Given the description of an element on the screen output the (x, y) to click on. 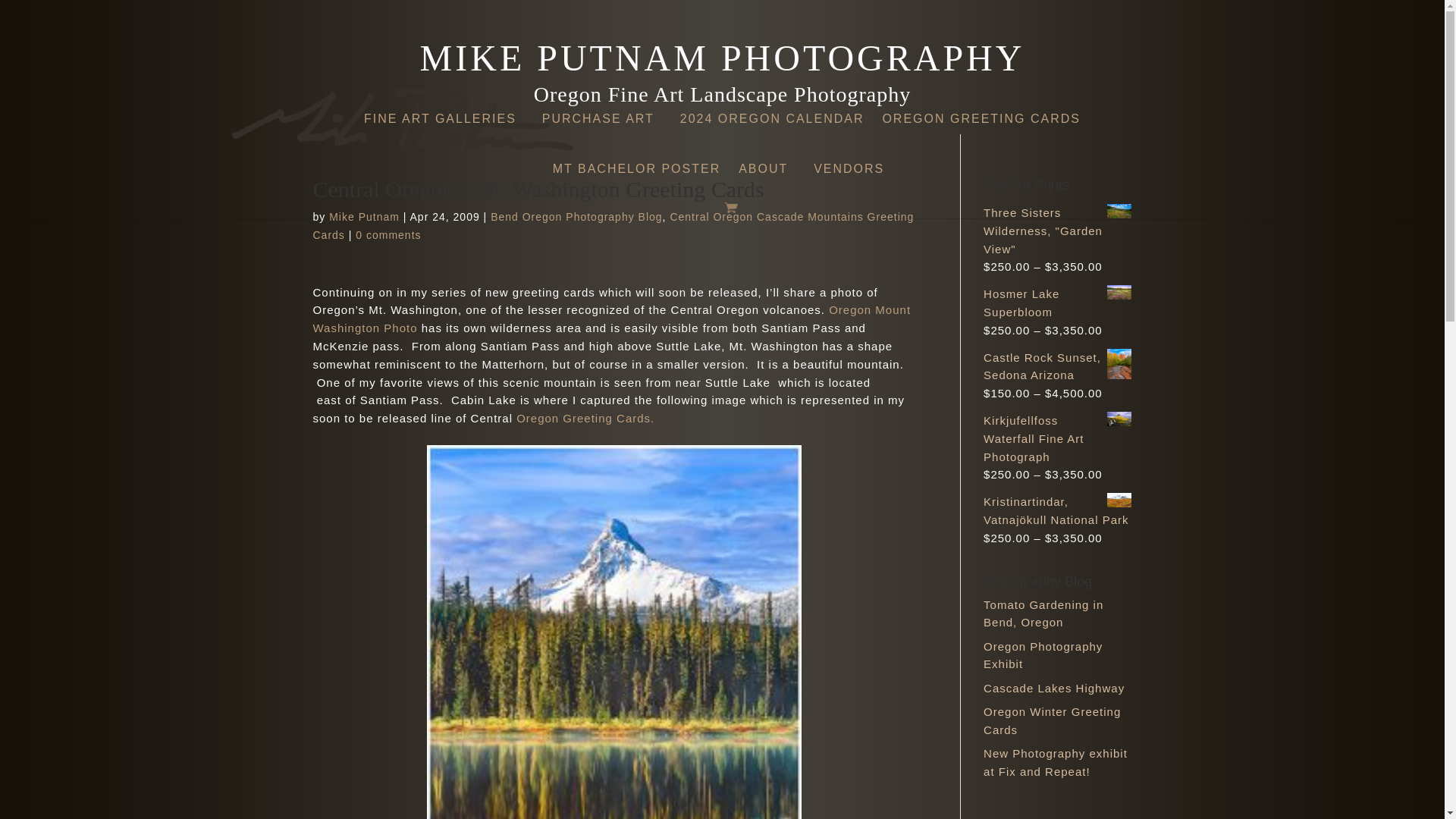
VENDORS (852, 173)
MIKE PUTNAM PHOTOGRAPHY (722, 69)
FINE ART GALLERIES (443, 123)
Central Oregon Cascade Mountains Greeting Cards (613, 225)
0 comments (387, 234)
ABOUT (766, 173)
Posts by Mike Putnam (363, 216)
OREGON GREETING CARDS (981, 123)
PURCHASE ART (601, 123)
2024 OREGON CALENDAR (772, 123)
